Given the description of an element on the screen output the (x, y) to click on. 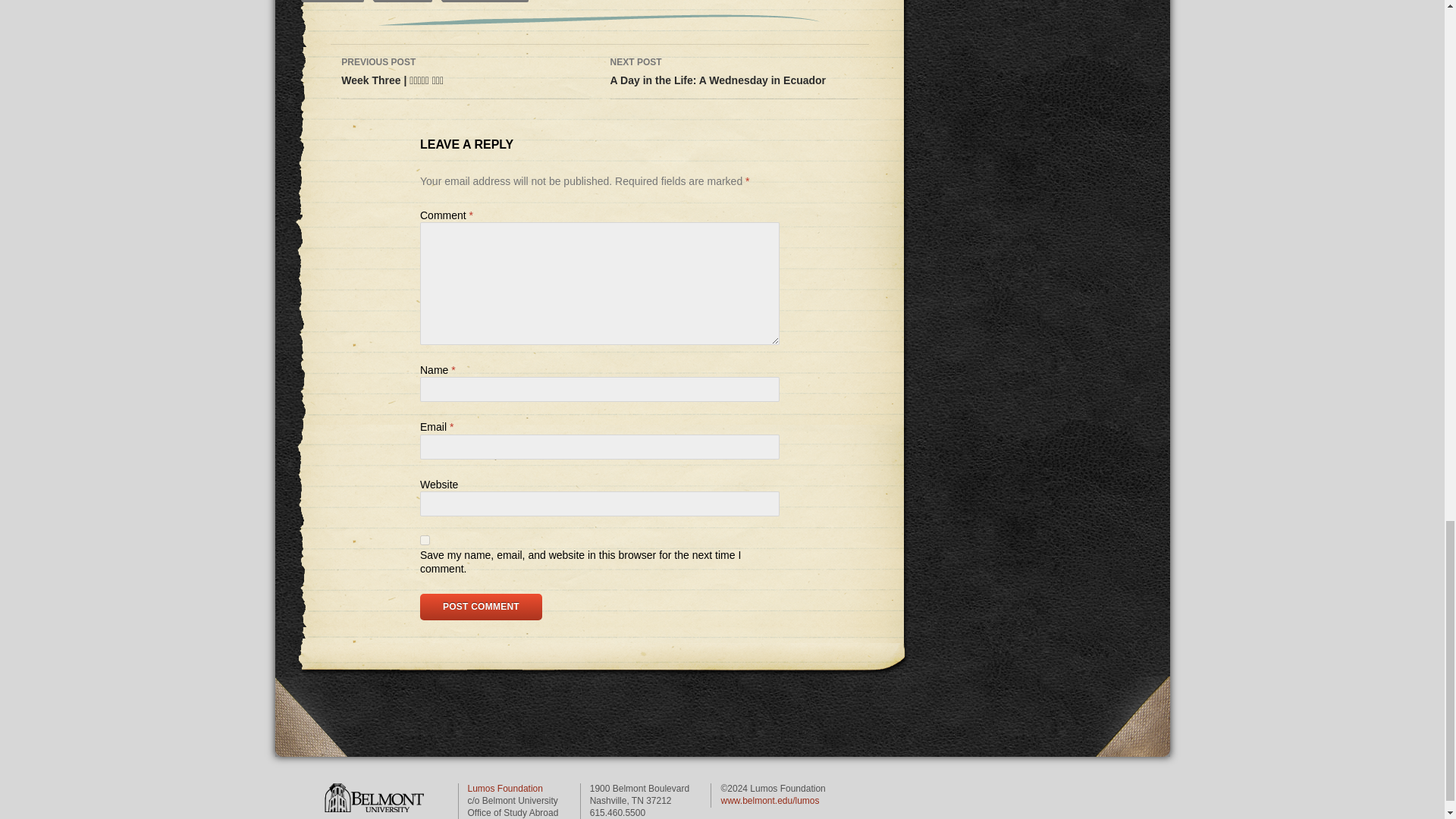
LUMOSTRAVELER (484, 0)
LANGUAGE (403, 0)
Lumos Foundation (504, 787)
yes (733, 71)
CAPE TOWN (424, 540)
Belmont University (331, 0)
Post Comment (373, 797)
Post Comment (480, 606)
